Given the description of an element on the screen output the (x, y) to click on. 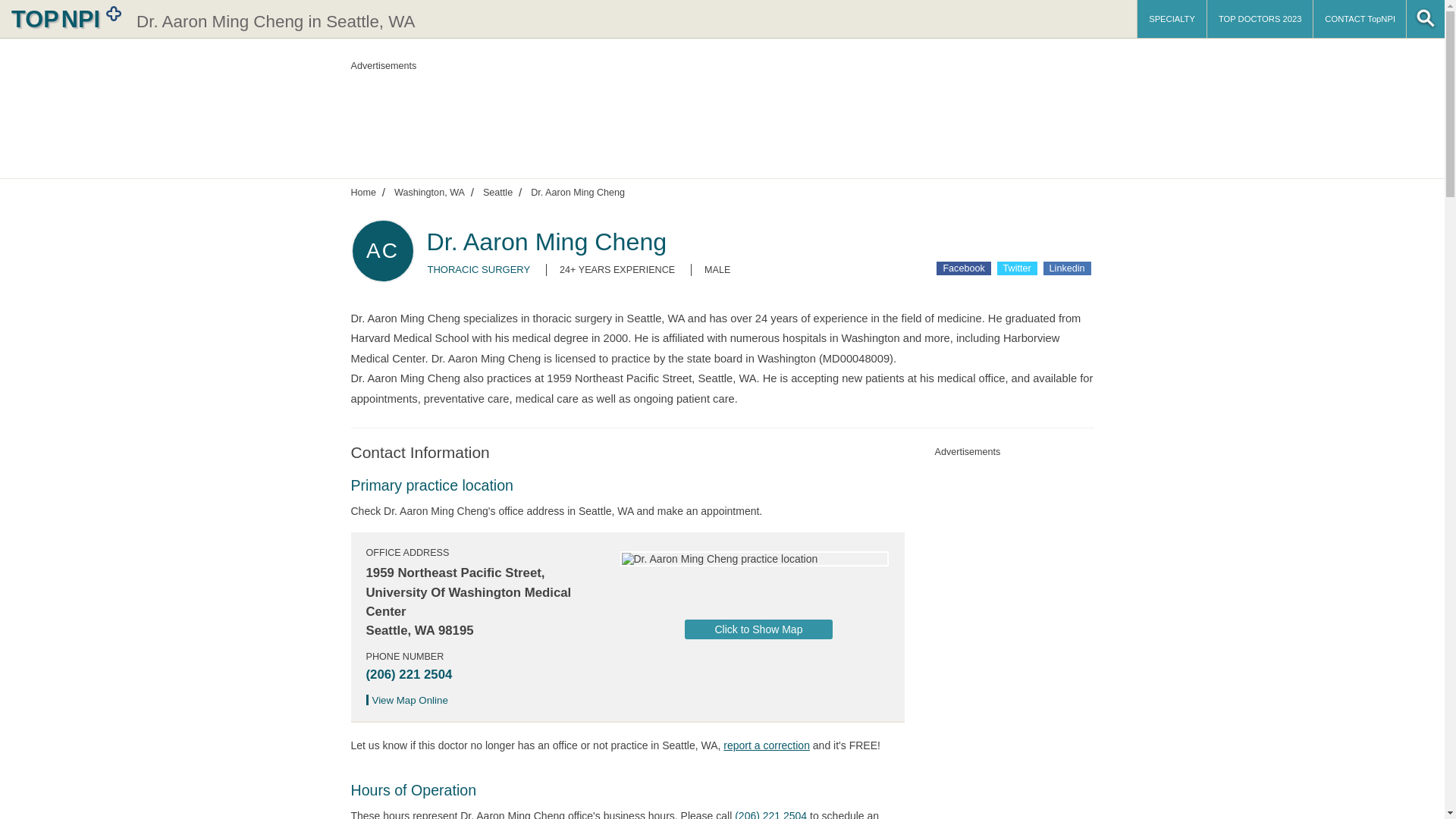
Advertisement (718, 113)
Update practice location (766, 745)
Share Dr. Aaron Ming Cheng on Linkedin (1066, 268)
Twitter (1016, 268)
Contact topnpi.com (1359, 18)
Share Dr. Aaron Ming Cheng on Twitter (1016, 268)
Thoracic Surgery (479, 269)
Share Dr. Aaron Ming Cheng on Facebook (963, 268)
TOPNPI (64, 18)
Find doctors by specialty (1172, 18)
